Given the description of an element on the screen output the (x, y) to click on. 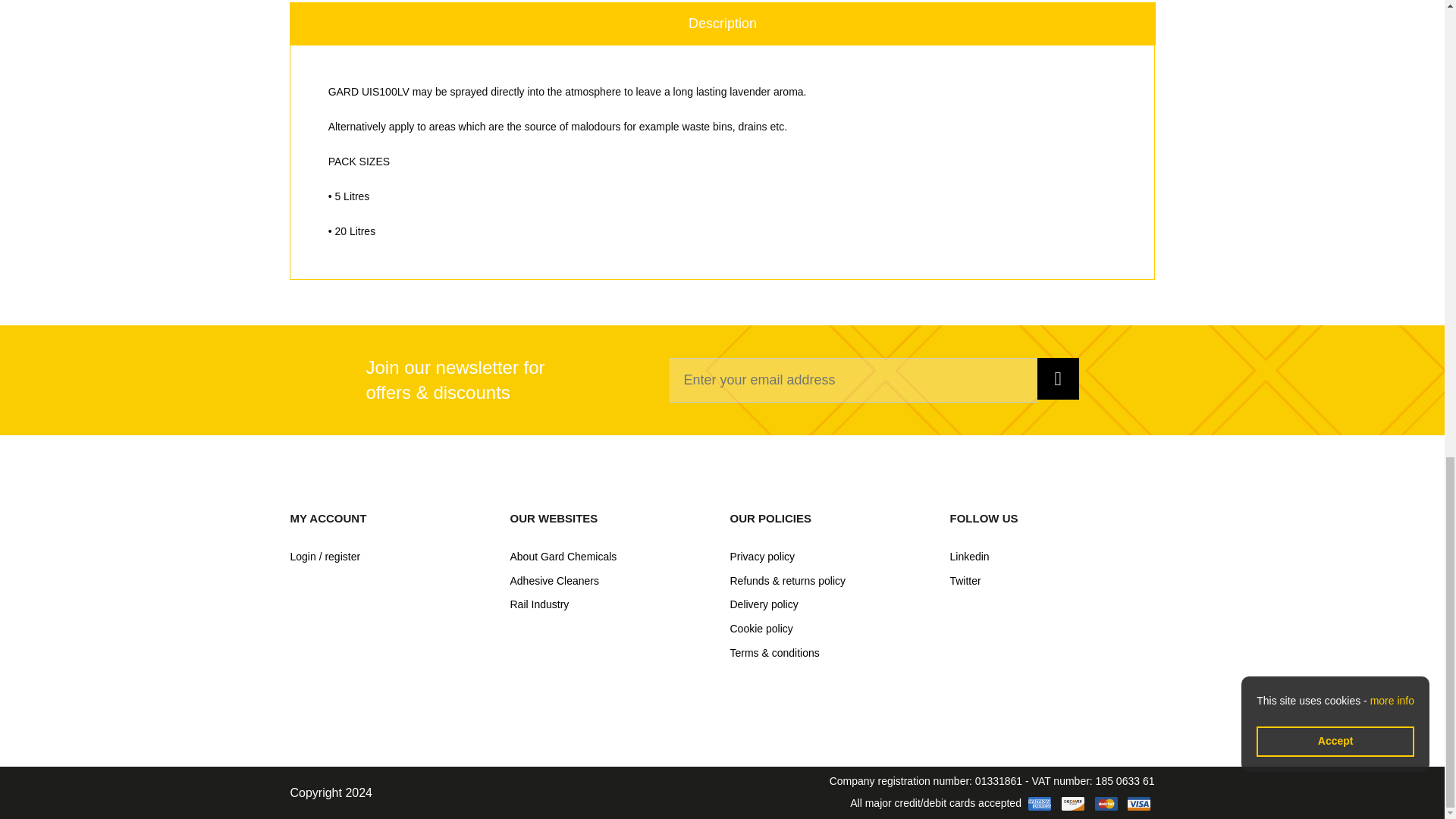
Account (392, 556)
